Given the description of an element on the screen output the (x, y) to click on. 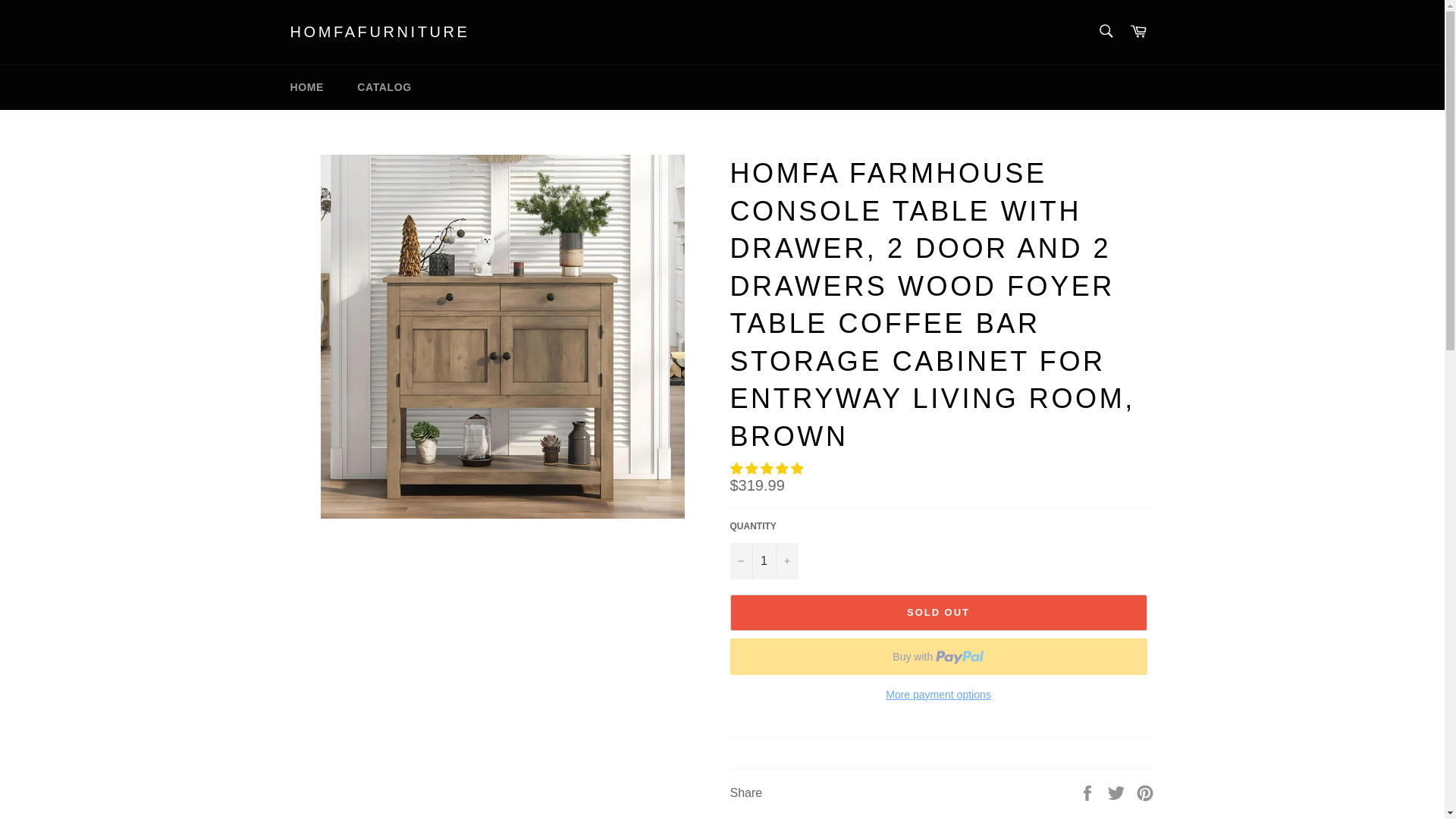
Pin on Pinterest (1144, 791)
HOME (306, 87)
1 (763, 560)
Search (1104, 30)
Cart (1138, 32)
Tweet on Twitter (1117, 791)
Share on Facebook (1088, 791)
Tweet on Twitter (1117, 791)
Share on Facebook (1088, 791)
CATALOG (384, 87)
